Given the description of an element on the screen output the (x, y) to click on. 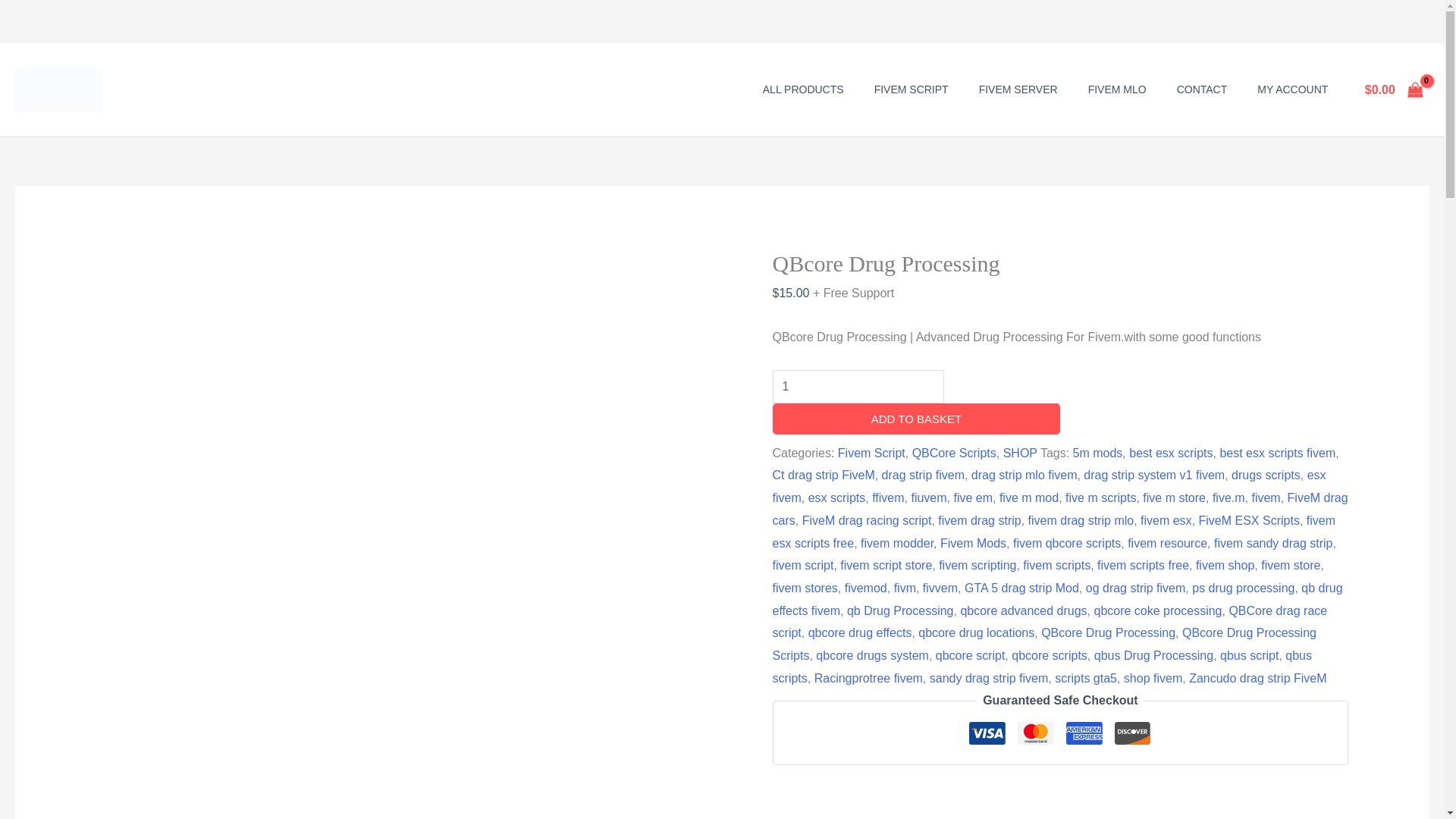
best esx scripts (1170, 452)
FIVEM SERVER (1018, 89)
MY ACCOUNT (1291, 89)
FIVEM MLO (1117, 89)
best esx scripts fivem (1277, 452)
QBCore Scripts (953, 452)
Fivem Script (871, 452)
drag strip system v1 fivem (1153, 474)
SHOP (1019, 452)
five m mod (1028, 497)
1 (858, 386)
drugs scripts (1265, 474)
Ct drag strip FiveM (824, 474)
drag strip mlo fivem (1024, 474)
FIVEM SCRIPT (911, 89)
